Given the description of an element on the screen output the (x, y) to click on. 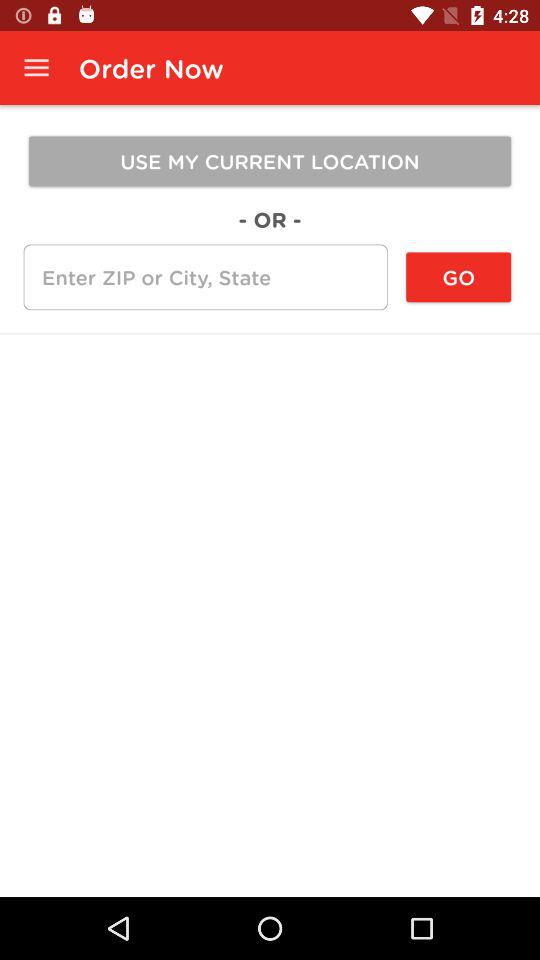
text box to enter zip or city and state (205, 277)
